Given the description of an element on the screen output the (x, y) to click on. 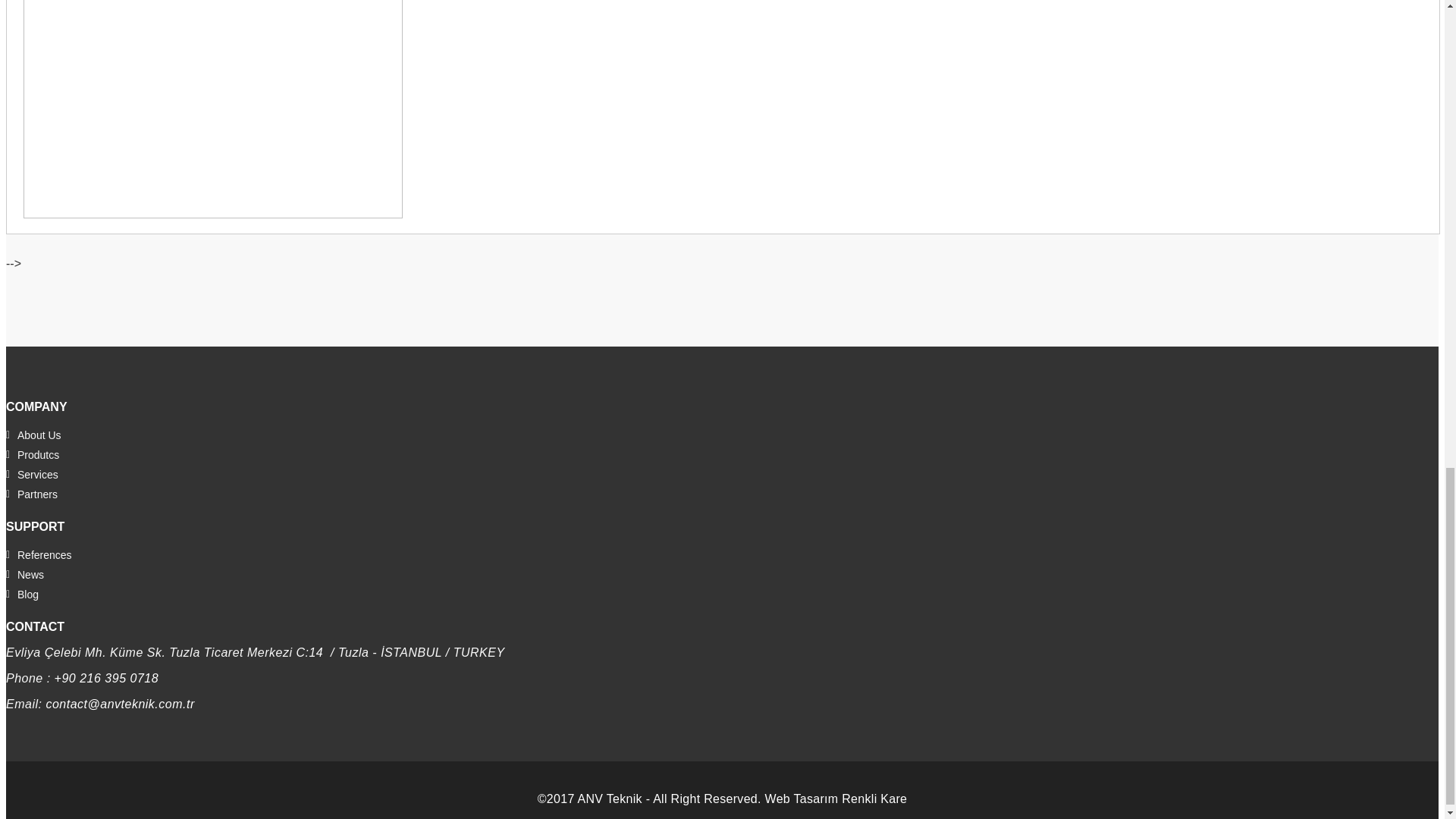
Partners (31, 494)
About Us (33, 435)
References (38, 555)
Produtcs (32, 455)
Blog (22, 594)
News (24, 574)
Services (31, 474)
